Given the description of an element on the screen output the (x, y) to click on. 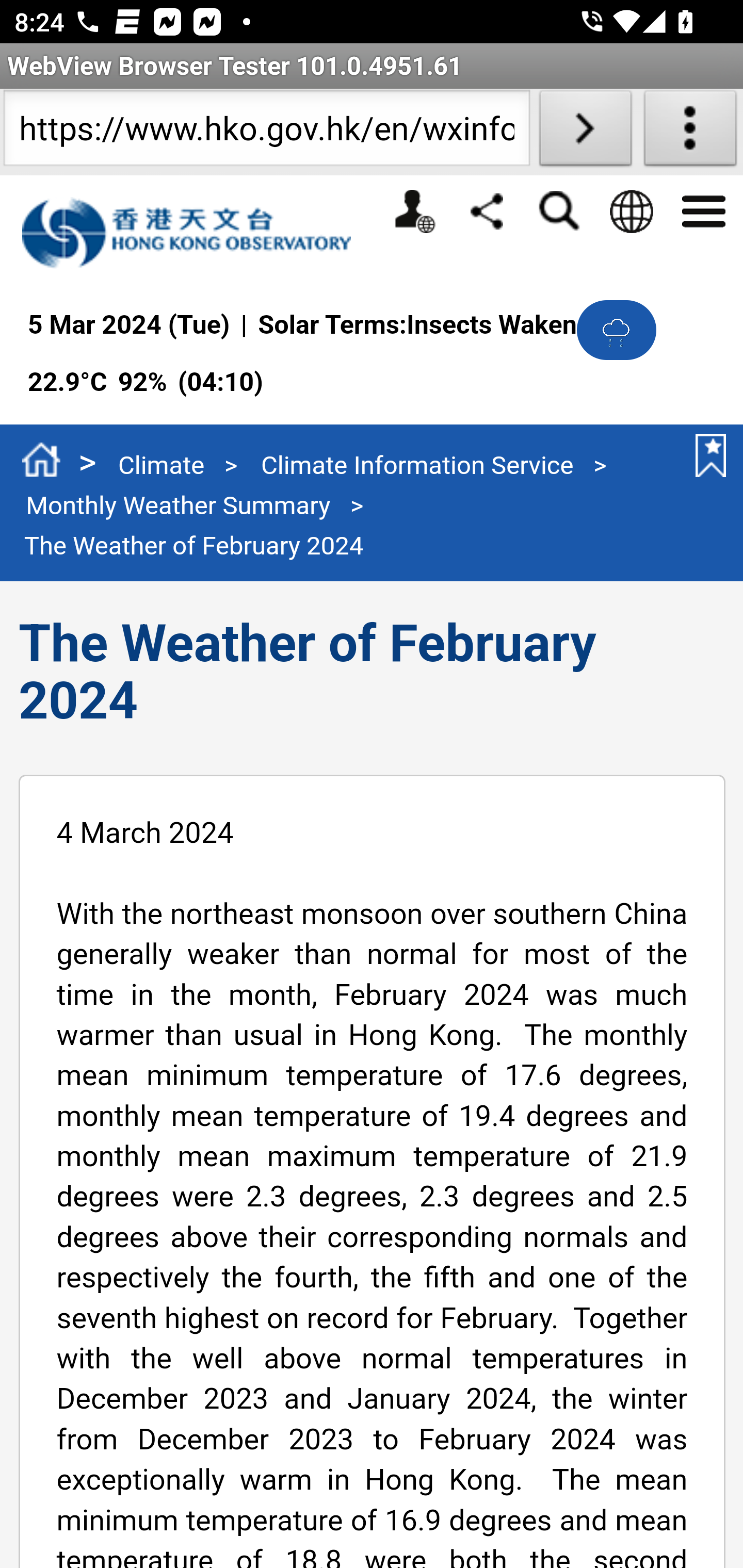
Load URL (585, 132)
About WebView (690, 132)
Hong Kong Observatory (197, 233)
Personalized Website Personalized Website (414, 211)
Search Search (558, 211)
Language Language (630, 211)
Share Share (486, 210)
Menu Menu (703, 209)
Bookmark Bookmark Bookmark Bookmark (706, 454)
Home (41, 462)
Climate (161, 464)
Climate Information Service (417, 464)
Monthly Weather Summary (178, 505)
